Given the description of an element on the screen output the (x, y) to click on. 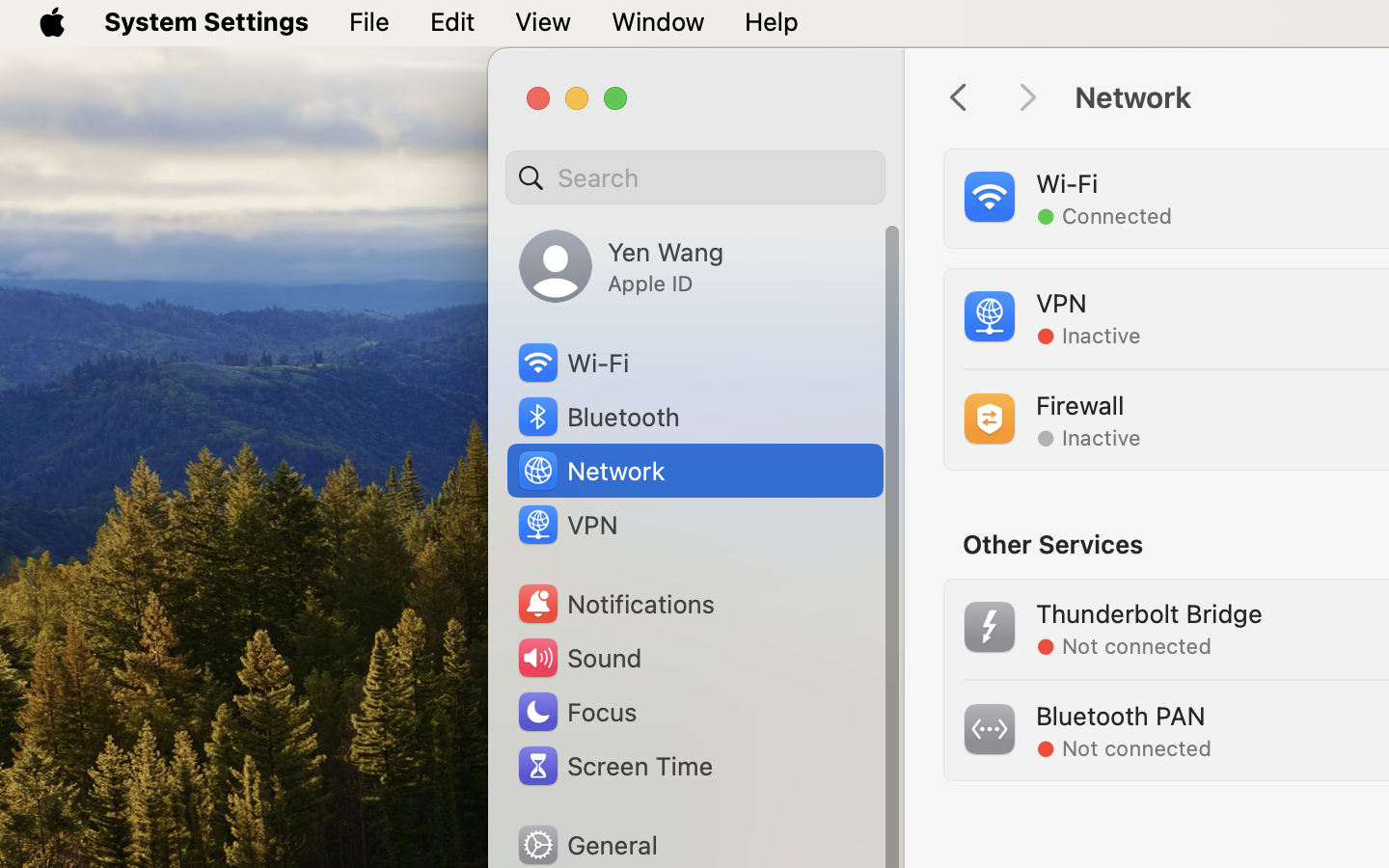
Yen Wang, Apple ID Element type: AXStaticText (620, 265)
Notifications Element type: AXStaticText (615, 603)
Focus Element type: AXStaticText (575, 711)
Bluetooth Element type: AXStaticText (597, 416)
Sound Element type: AXStaticText (578, 657)
